Given the description of an element on the screen output the (x, y) to click on. 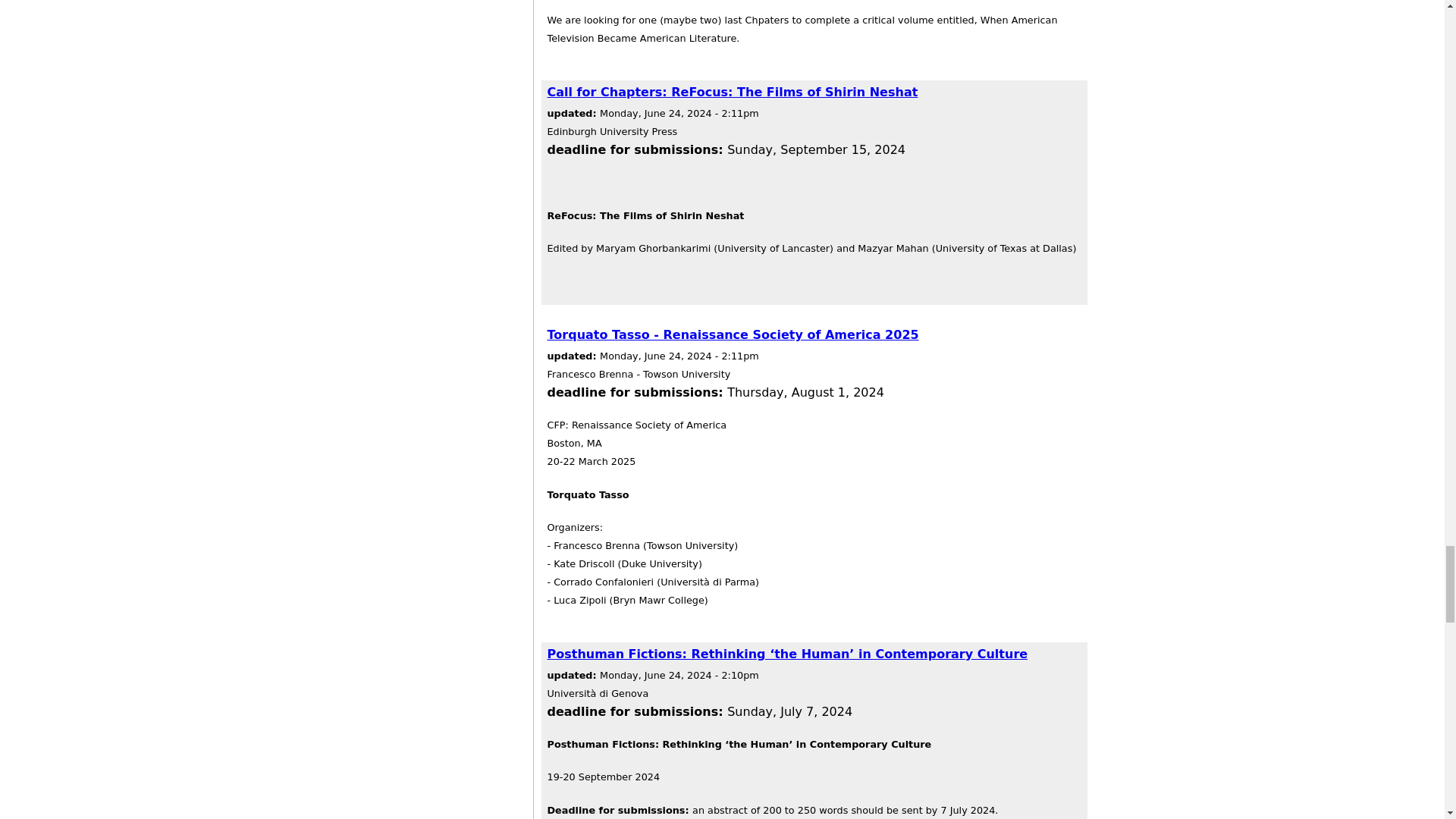
Call for Chapters: ReFocus: The Films of Shirin Neshat (732, 92)
Torquato Tasso - Renaissance Society of America 2025 (732, 334)
